Given the description of an element on the screen output the (x, y) to click on. 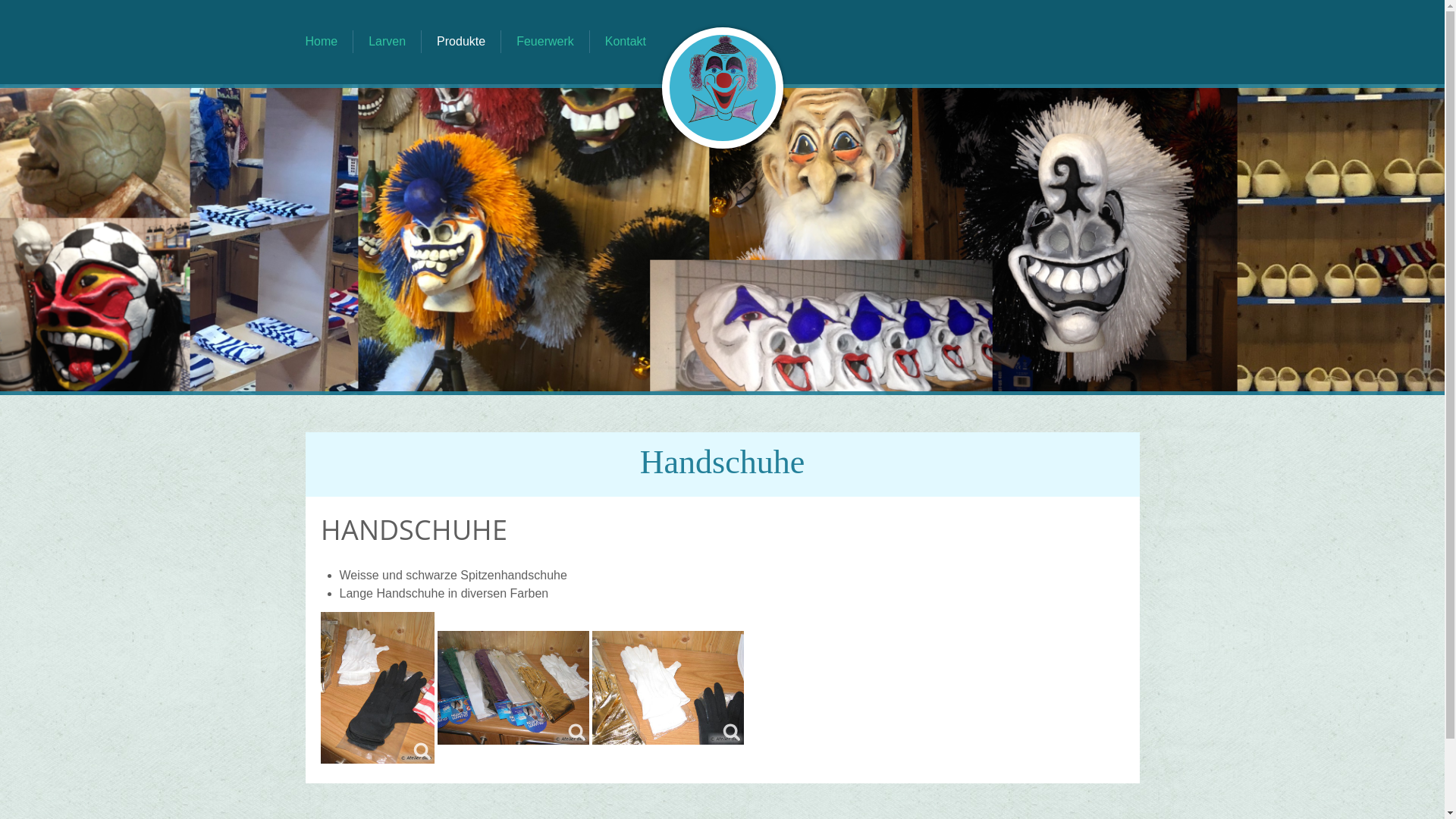
Kontakt Element type: text (625, 41)
Home Element type: text (320, 41)
Feuerwerk Element type: text (545, 41)
Produkte Element type: text (460, 41)
Larven Element type: text (386, 41)
